Given the description of an element on the screen output the (x, y) to click on. 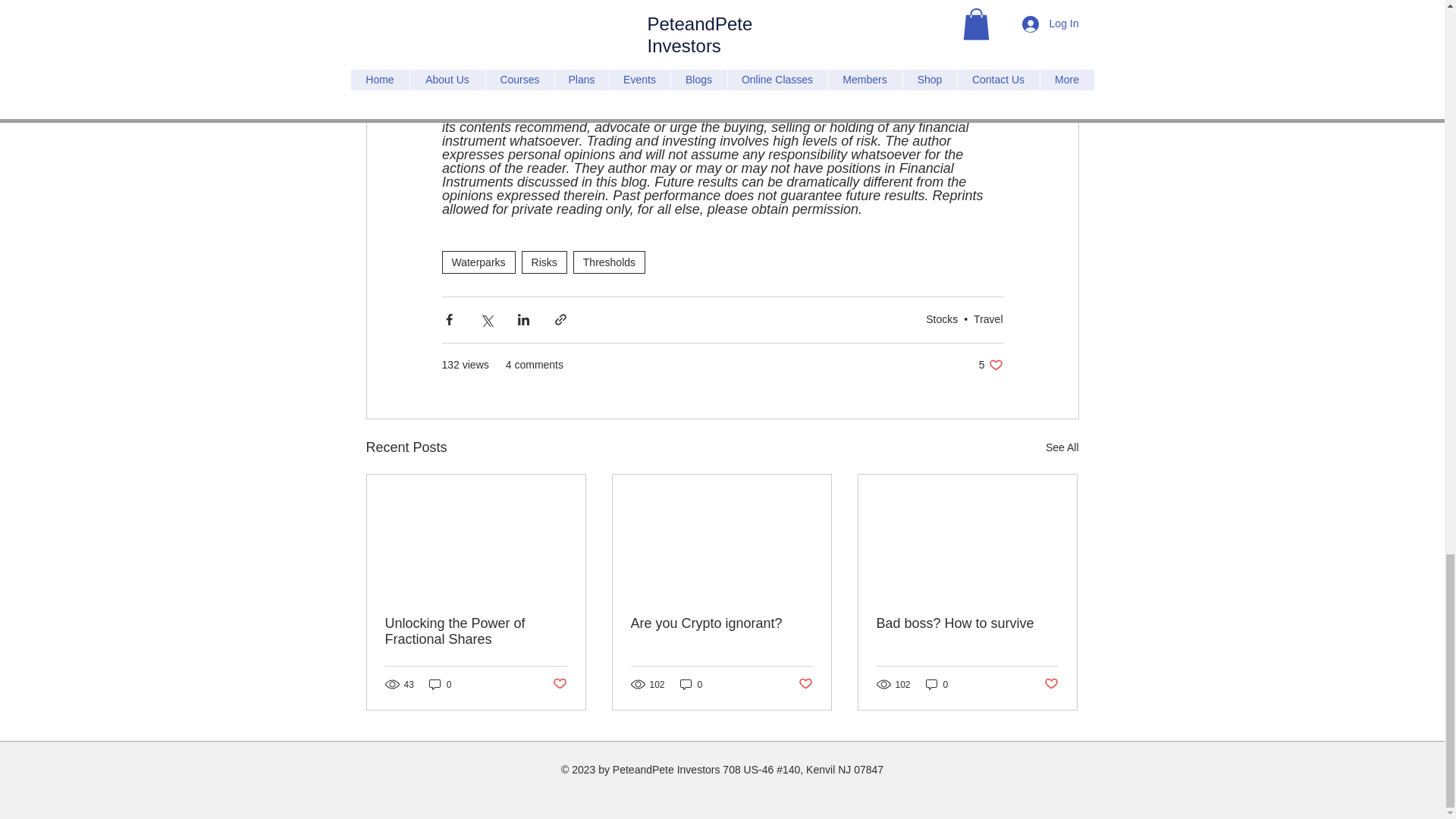
Cyd (453, 6)
IGI Global Publications. (745, 45)
